Given the description of an element on the screen output the (x, y) to click on. 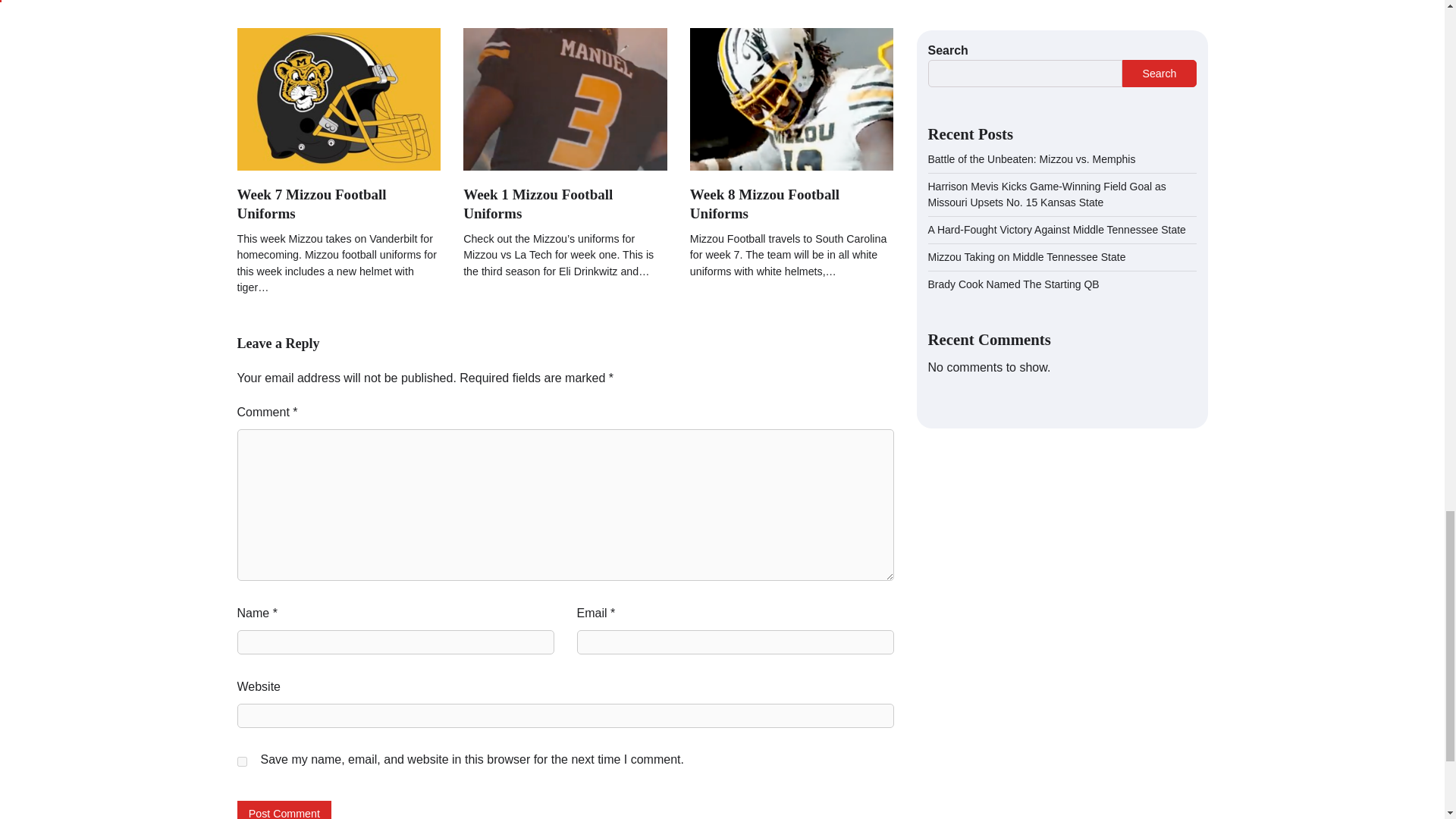
Week 1 Mizzou Football Uniforms (537, 203)
Post Comment (283, 809)
Post Comment (283, 809)
Week 7 Mizzou Football Uniforms (310, 203)
yes (240, 761)
Week 8 Mizzou Football Uniforms (765, 203)
